Given the description of an element on the screen output the (x, y) to click on. 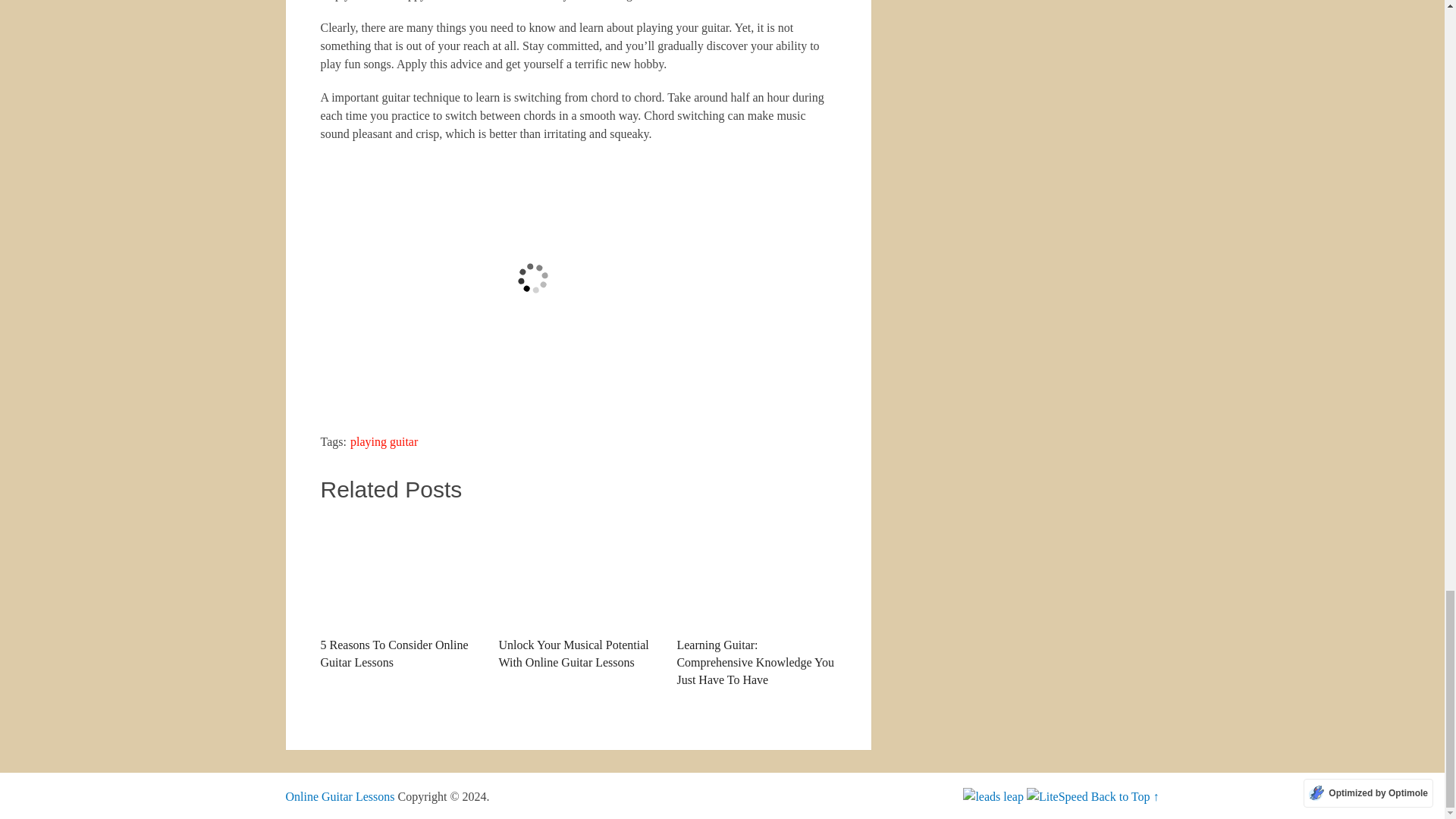
Unlock Your Musical Potential With Online Guitar Lessons (577, 571)
5 Reasons To Consider Online Guitar Lessons (399, 571)
playing guitar (383, 440)
5 Reasons To Consider Online Guitar Lessons (399, 592)
YouTube video player (532, 277)
Unlock Your Musical Potential With Online Guitar Lessons (577, 592)
5 Reasons To Consider Online Guitar Lessons (399, 592)
Unlock Your Musical Potential With Online Guitar Lessons (577, 592)
